Given the description of an element on the screen output the (x, y) to click on. 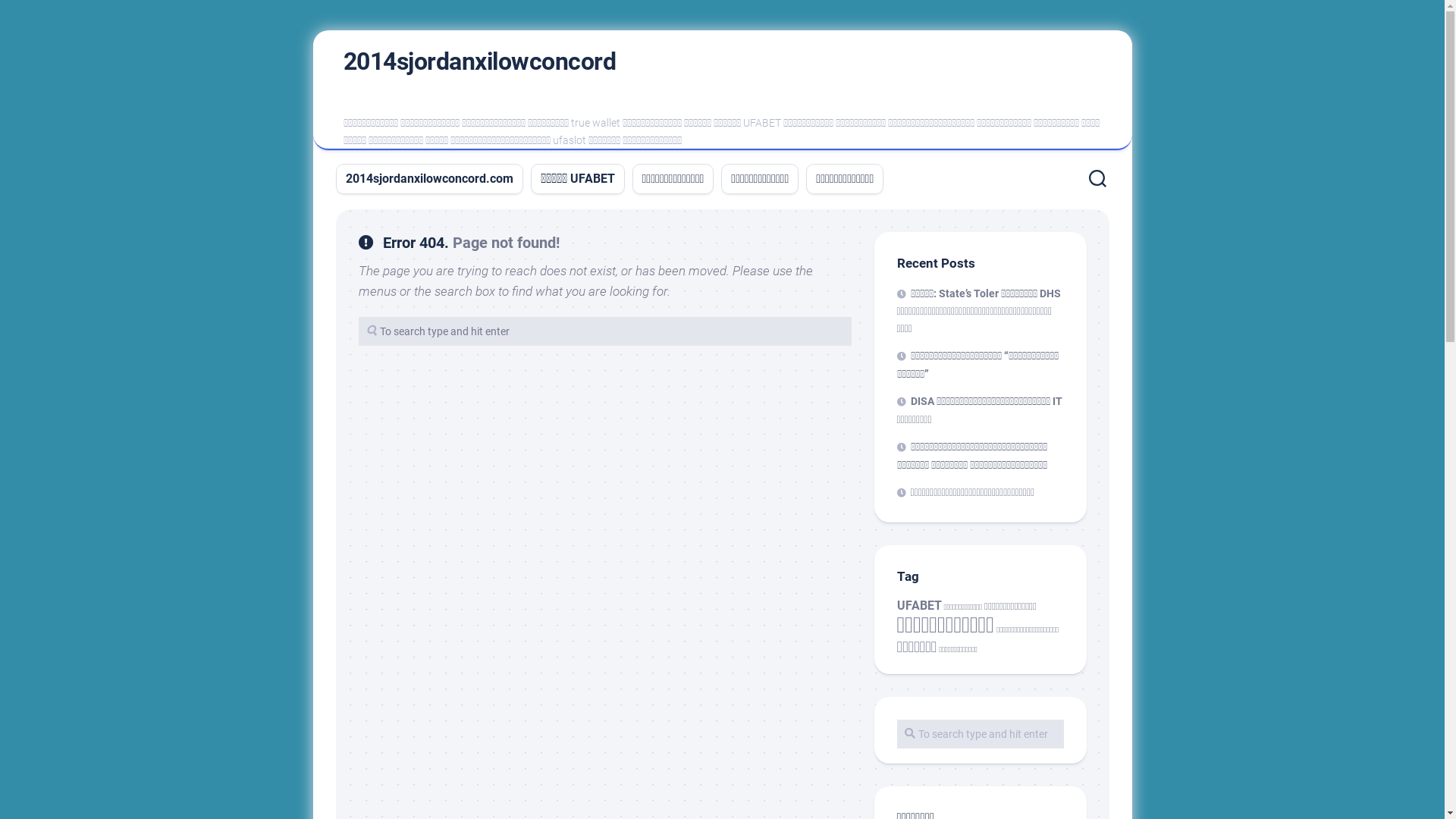
2014sjordanxilowconcord Element type: text (478, 61)
2014sjordanxilowconcord.com Element type: text (429, 178)
UFABET Element type: text (918, 605)
